Given the description of an element on the screen output the (x, y) to click on. 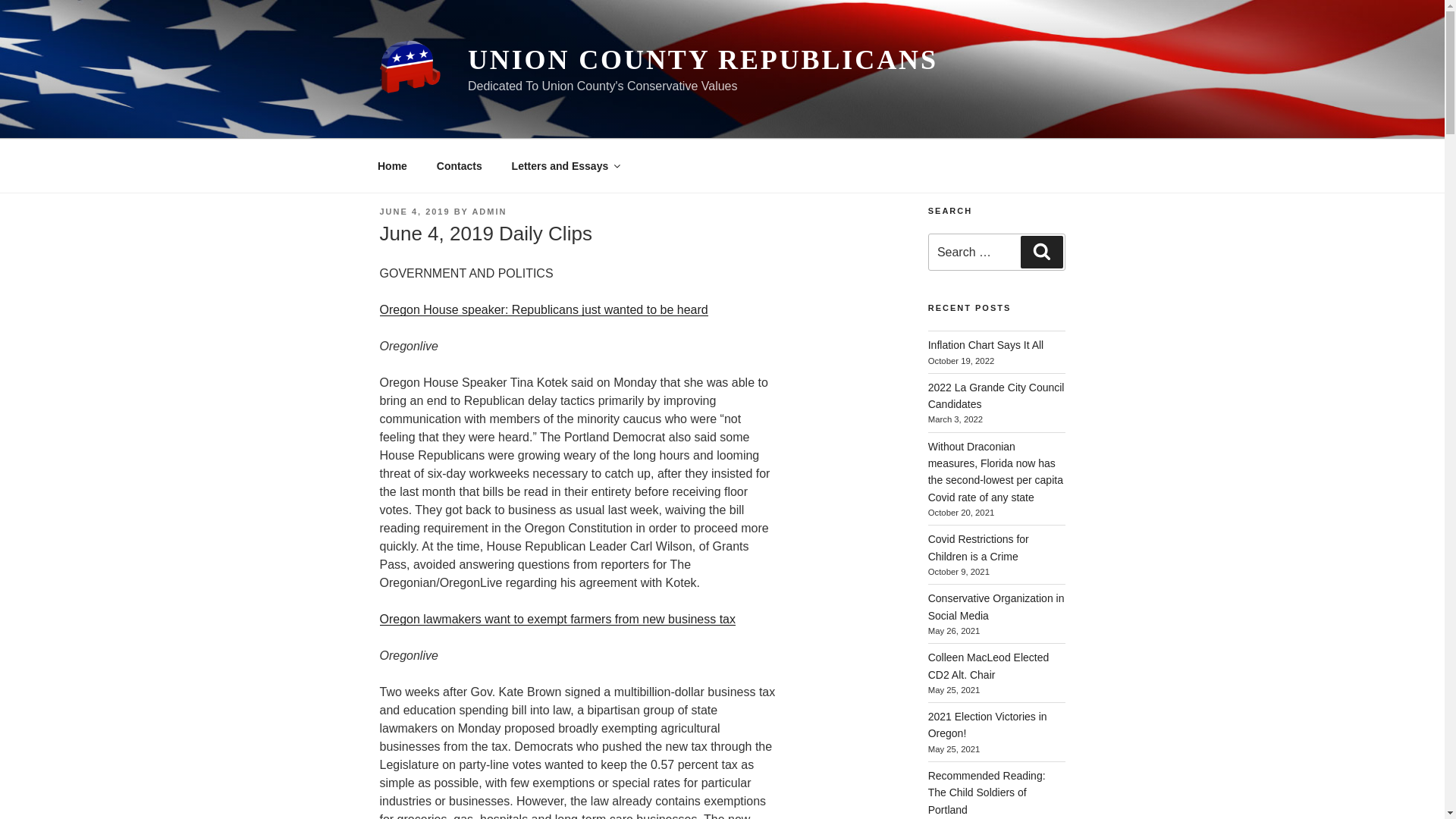
JUNE 4, 2019 (413, 211)
ADMIN (488, 211)
Contacts (459, 165)
Letters and Essays (564, 165)
Home (392, 165)
Oregon House speaker: Republicans just wanted to be heard (542, 309)
UNION COUNTY REPUBLICANS (702, 60)
